Given the description of an element on the screen output the (x, y) to click on. 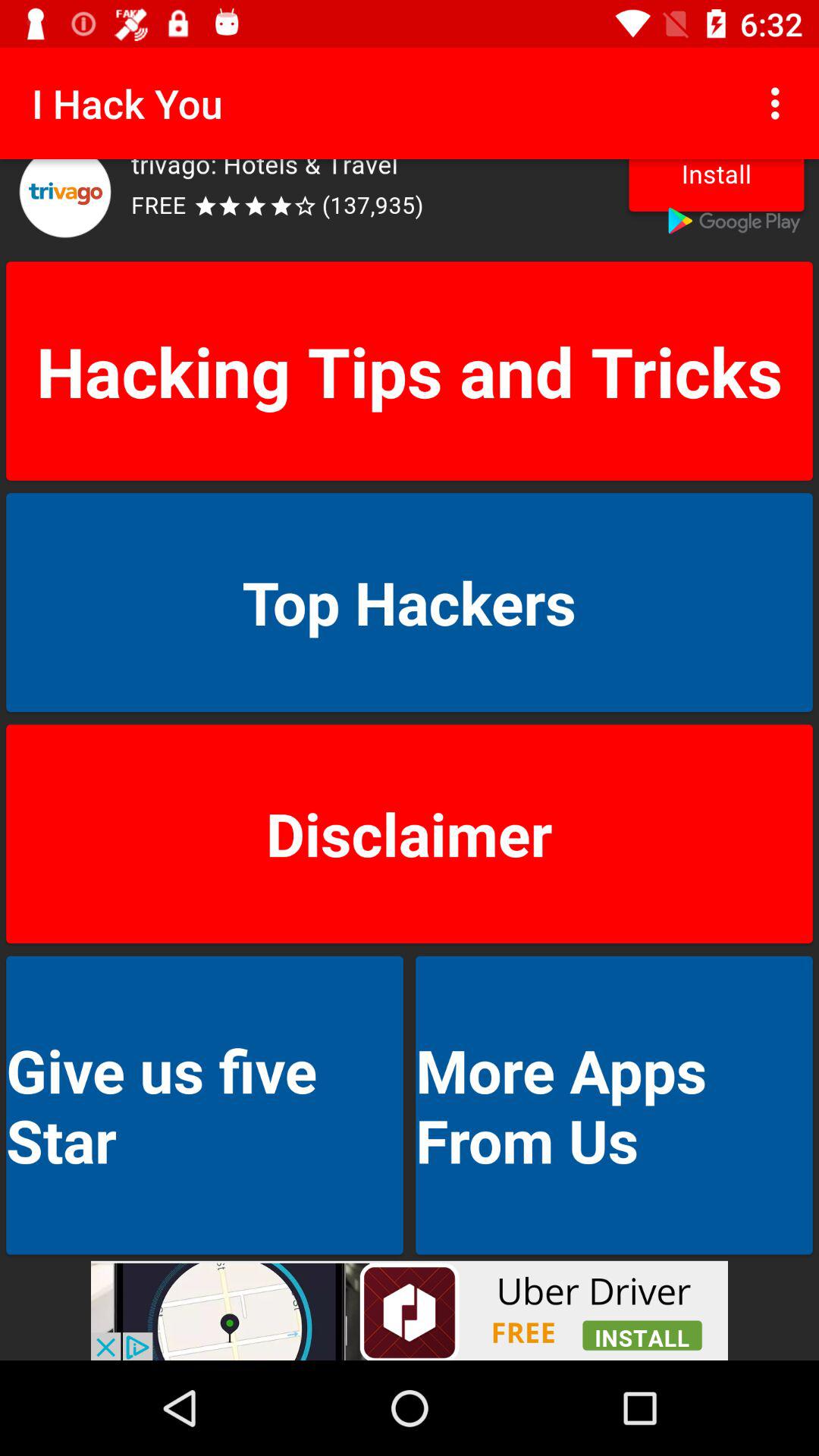
advertisement (409, 207)
